Given the description of an element on the screen output the (x, y) to click on. 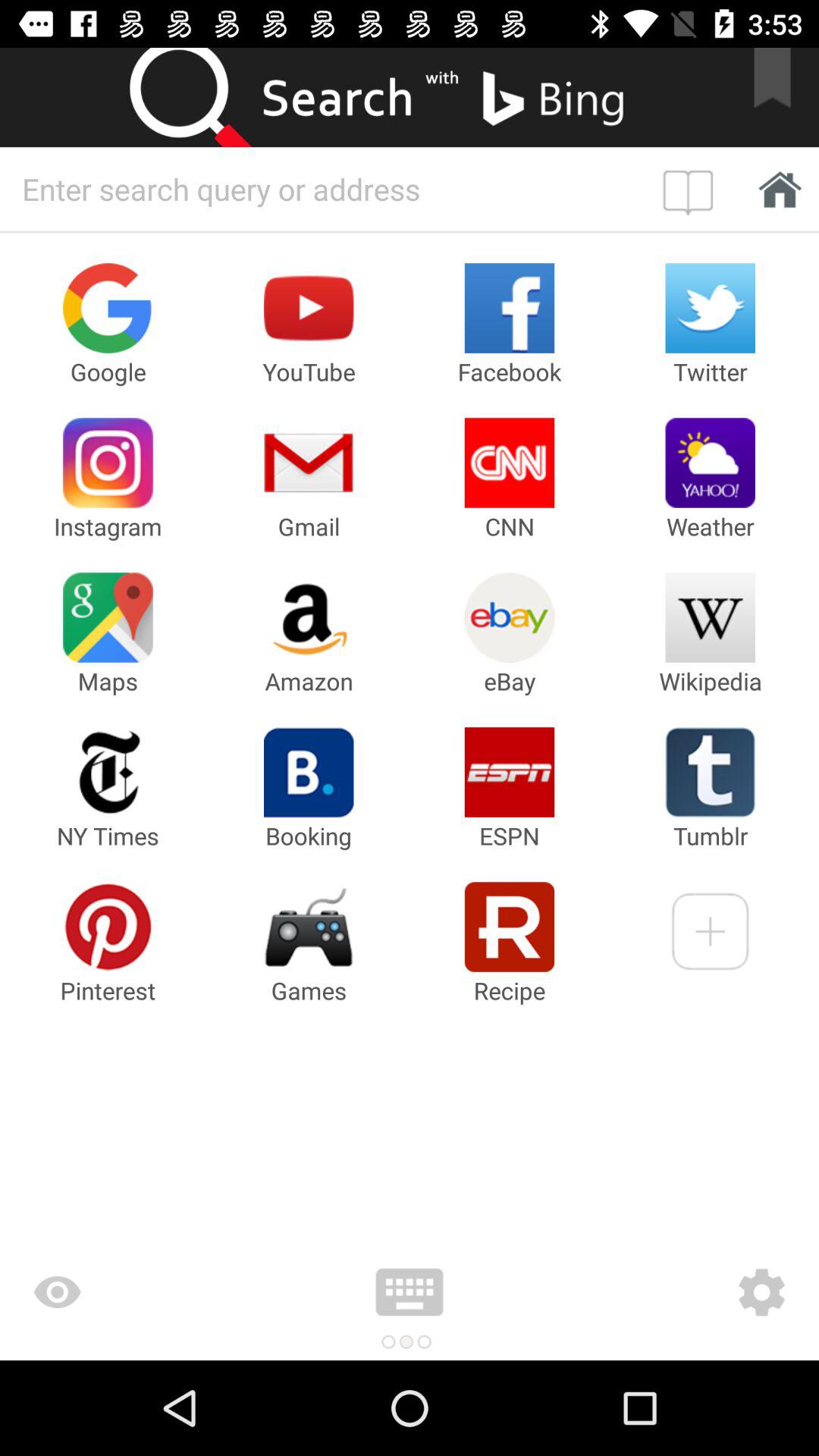
search button (204, 97)
